Given the description of an element on the screen output the (x, y) to click on. 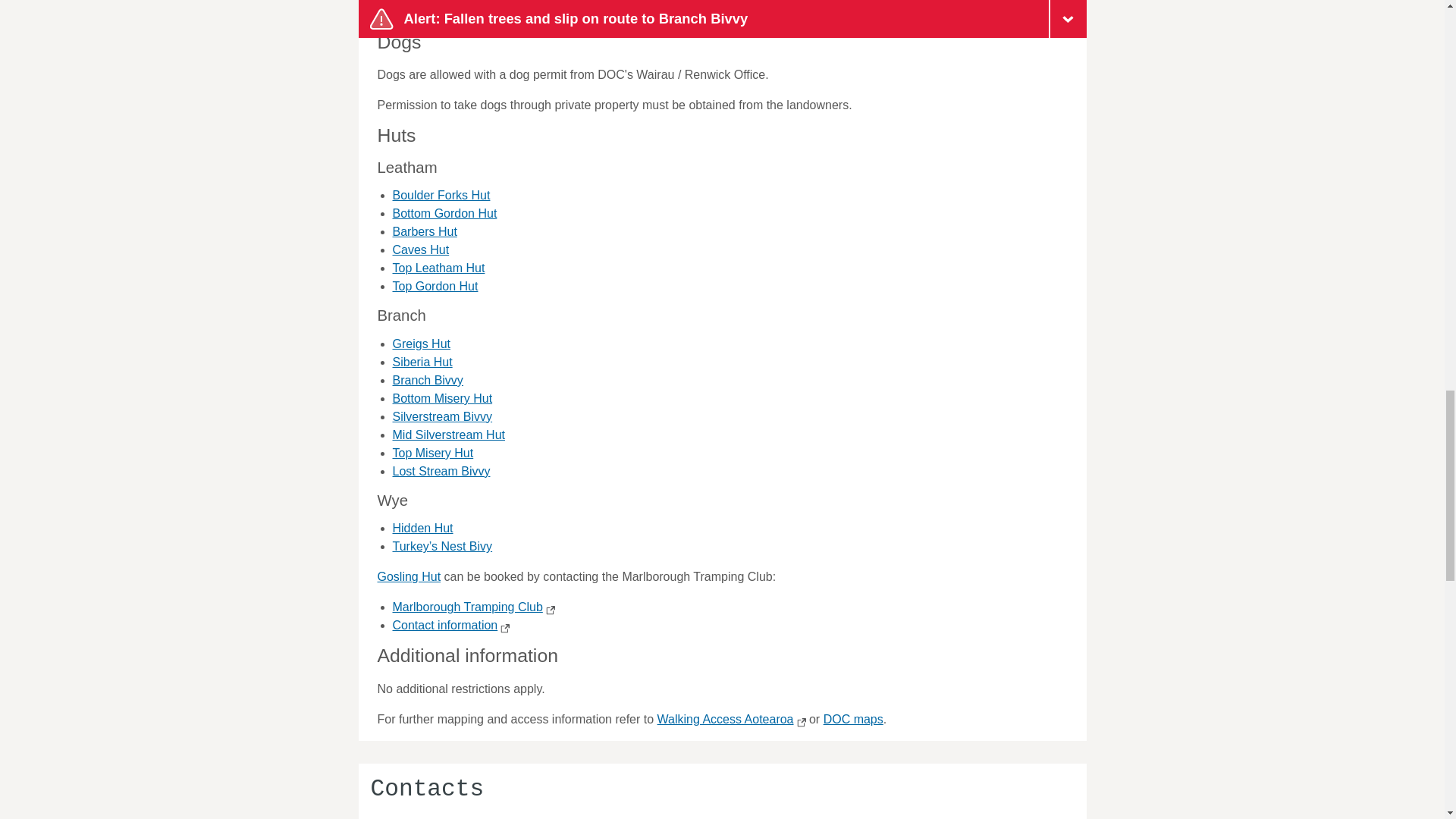
Walking Access Aotearoa (732, 718)
External site link (503, 628)
DOC maps (853, 718)
External site link (799, 722)
External site link (548, 610)
